Given the description of an element on the screen output the (x, y) to click on. 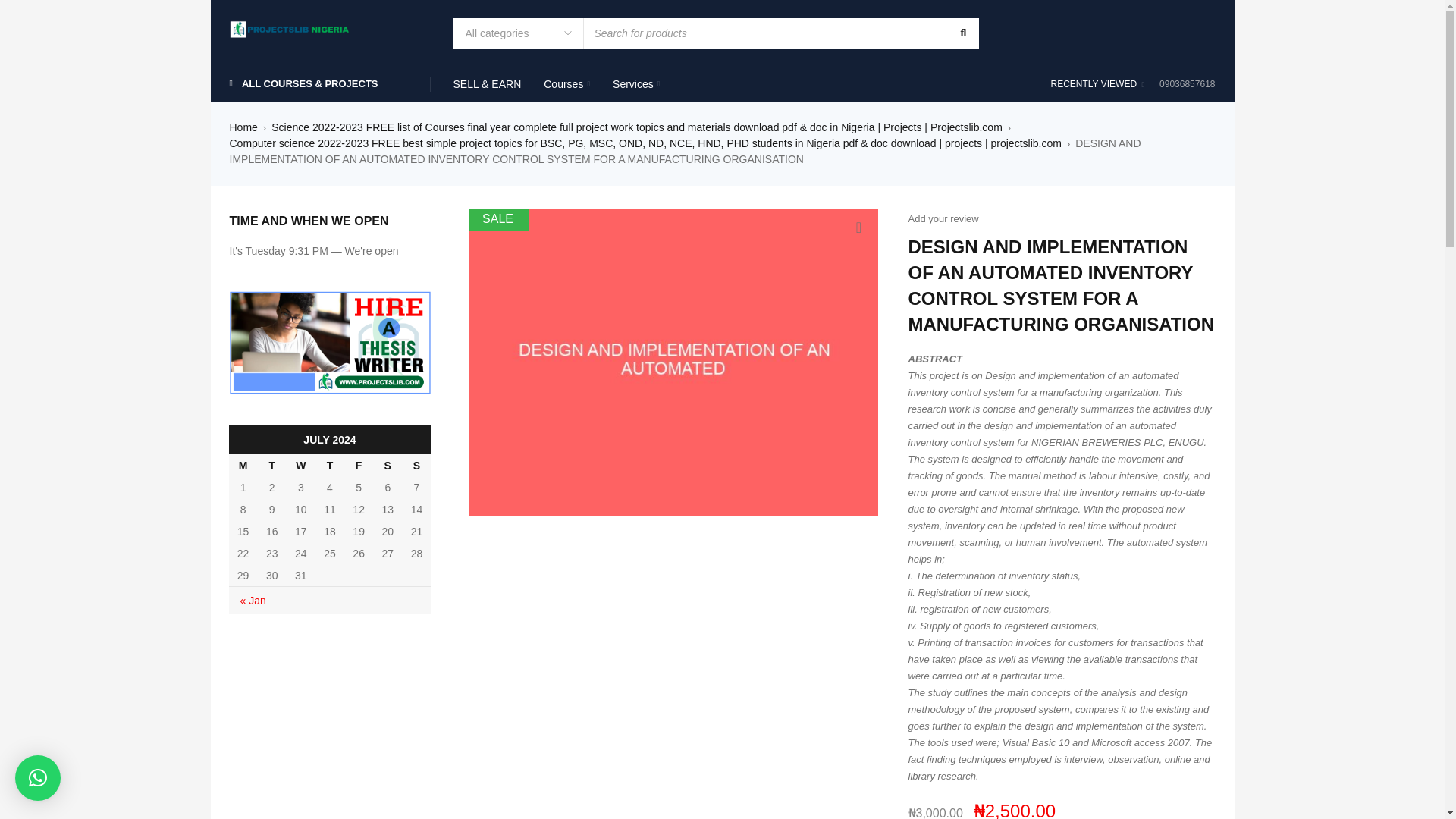
Tuesday (271, 464)
PROJECTSLIB (289, 27)
Search (962, 32)
Saturday (386, 464)
Monday (242, 464)
Search (962, 32)
Sunday (415, 464)
Thursday (329, 464)
Wednesday (300, 464)
Friday (357, 464)
